Given the description of an element on the screen output the (x, y) to click on. 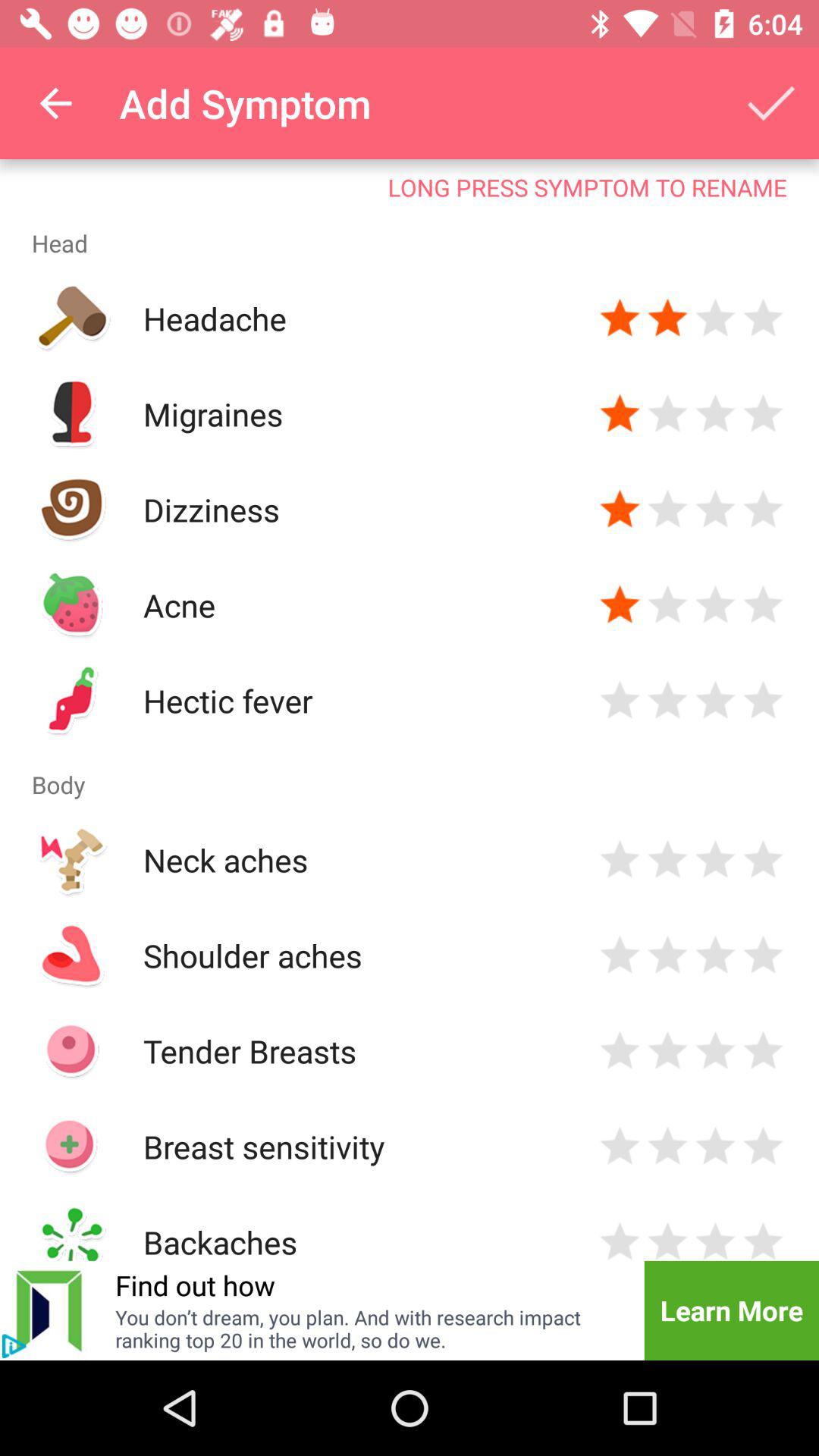
this option rating option (667, 509)
